Given the description of an element on the screen output the (x, y) to click on. 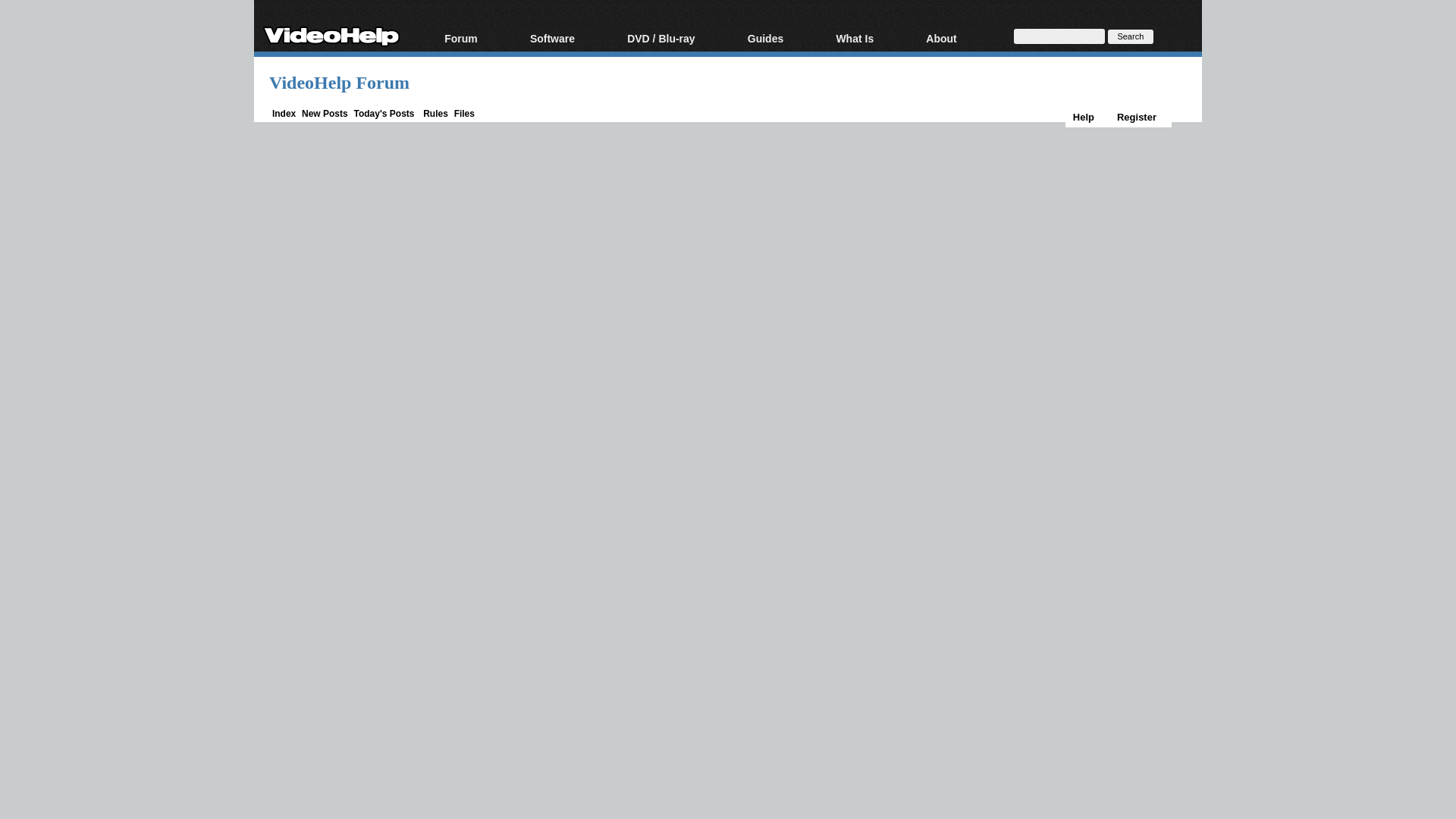
Guides (783, 40)
Index (283, 113)
What Is (872, 40)
Forum (478, 40)
Files (464, 113)
New Posts (324, 113)
Rules (435, 113)
VideoHelp (330, 33)
VideoHelp Forum (339, 82)
Search (1130, 35)
Today's Posts (383, 113)
Software (570, 40)
About (959, 40)
Search (1130, 35)
